Given the description of an element on the screen output the (x, y) to click on. 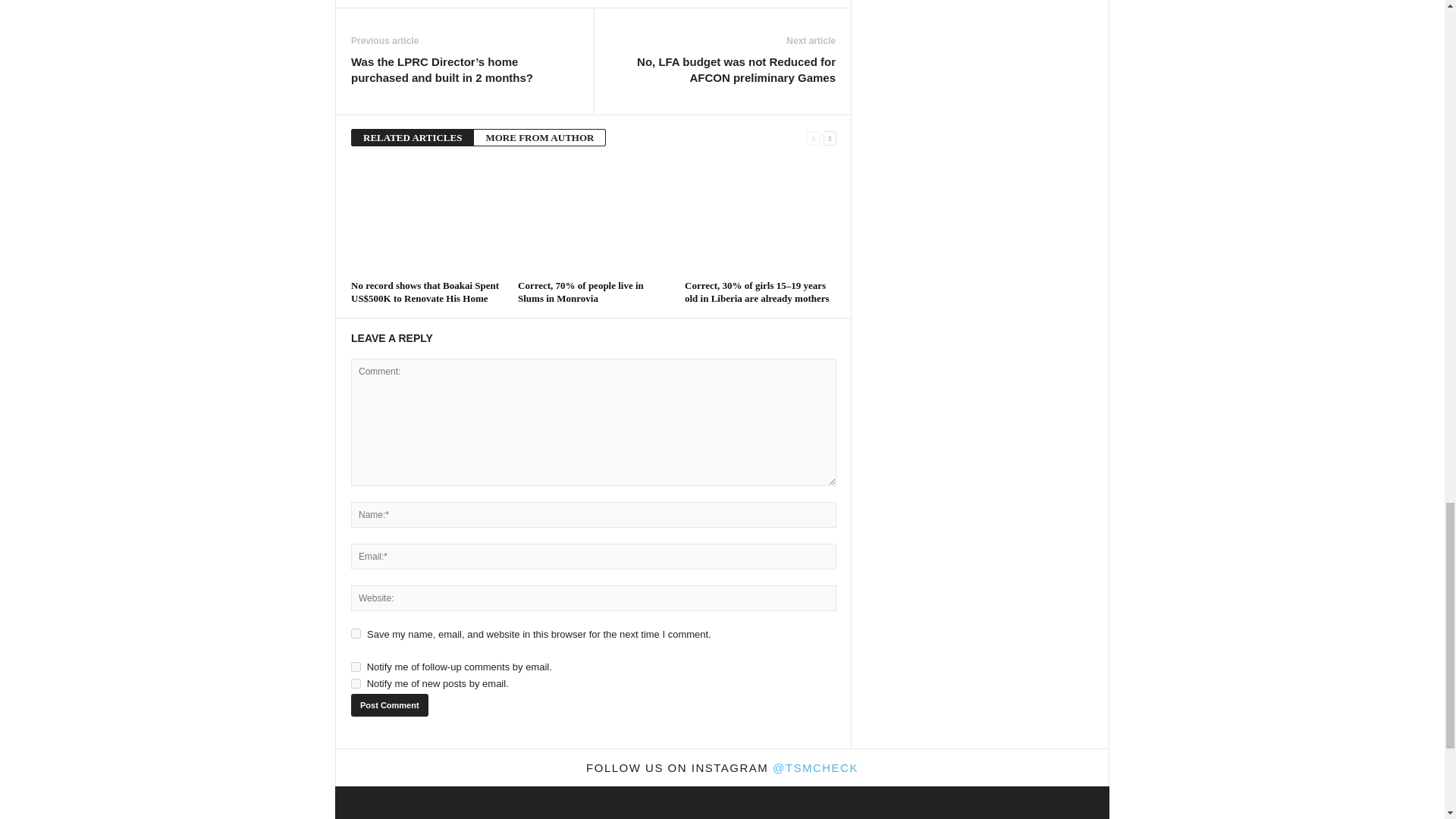
yes (355, 633)
subscribe (355, 666)
Post Comment (389, 704)
subscribe (355, 683)
